Given the description of an element on the screen output the (x, y) to click on. 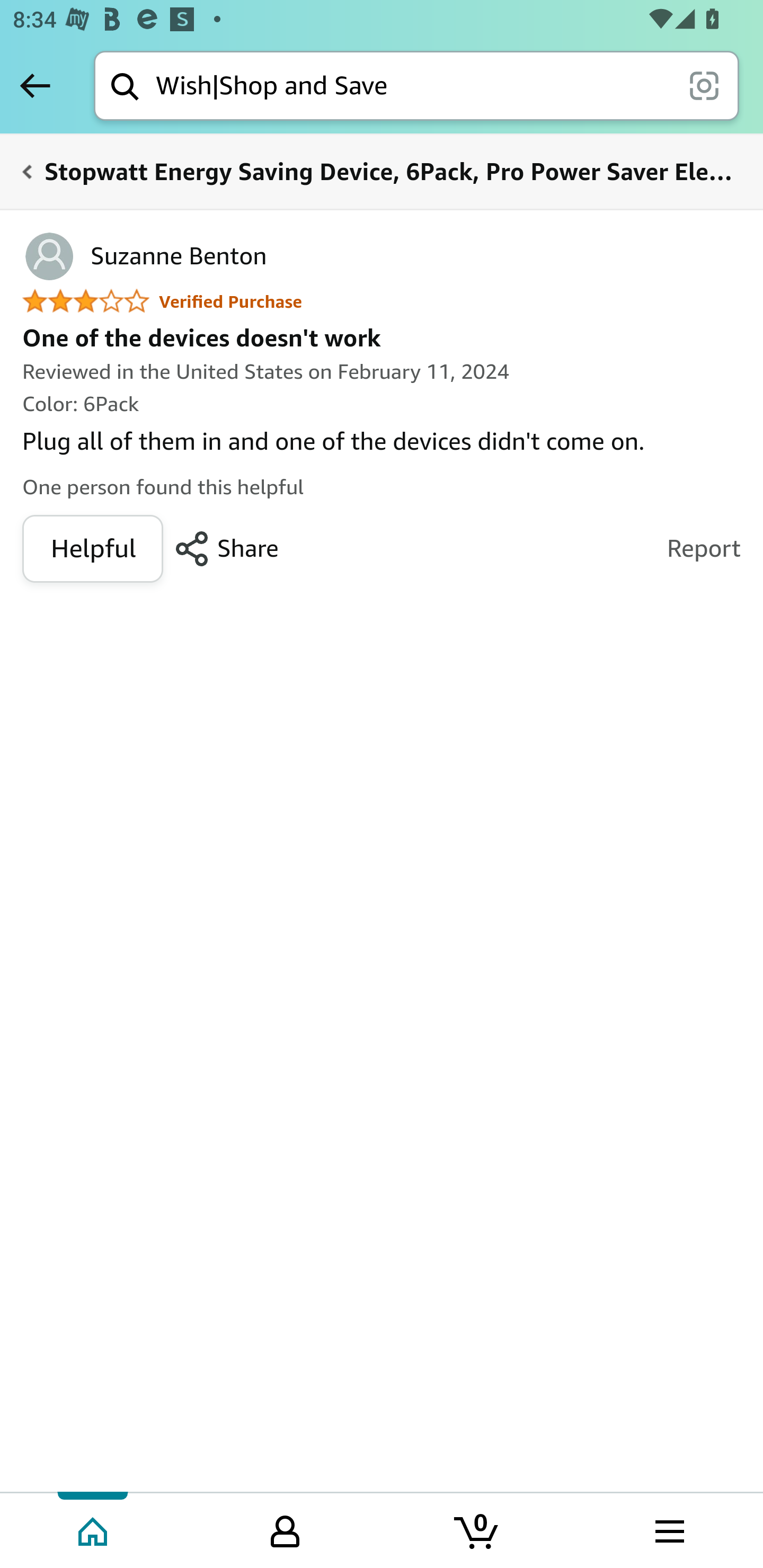
Back (35, 85)
Search Search Wish|Shop and Save scan it (416, 85)
scan it (704, 85)
Suzanne Benton (144, 255)
Helpful (92, 548)
Home Tab 1 of 4 (94, 1529)
Your Amazon.com Tab 2 of 4 (285, 1529)
Cart 0 item Tab 3 of 4 0 (477, 1529)
Browse menu Tab 4 of 4 (668, 1529)
